Given the description of an element on the screen output the (x, y) to click on. 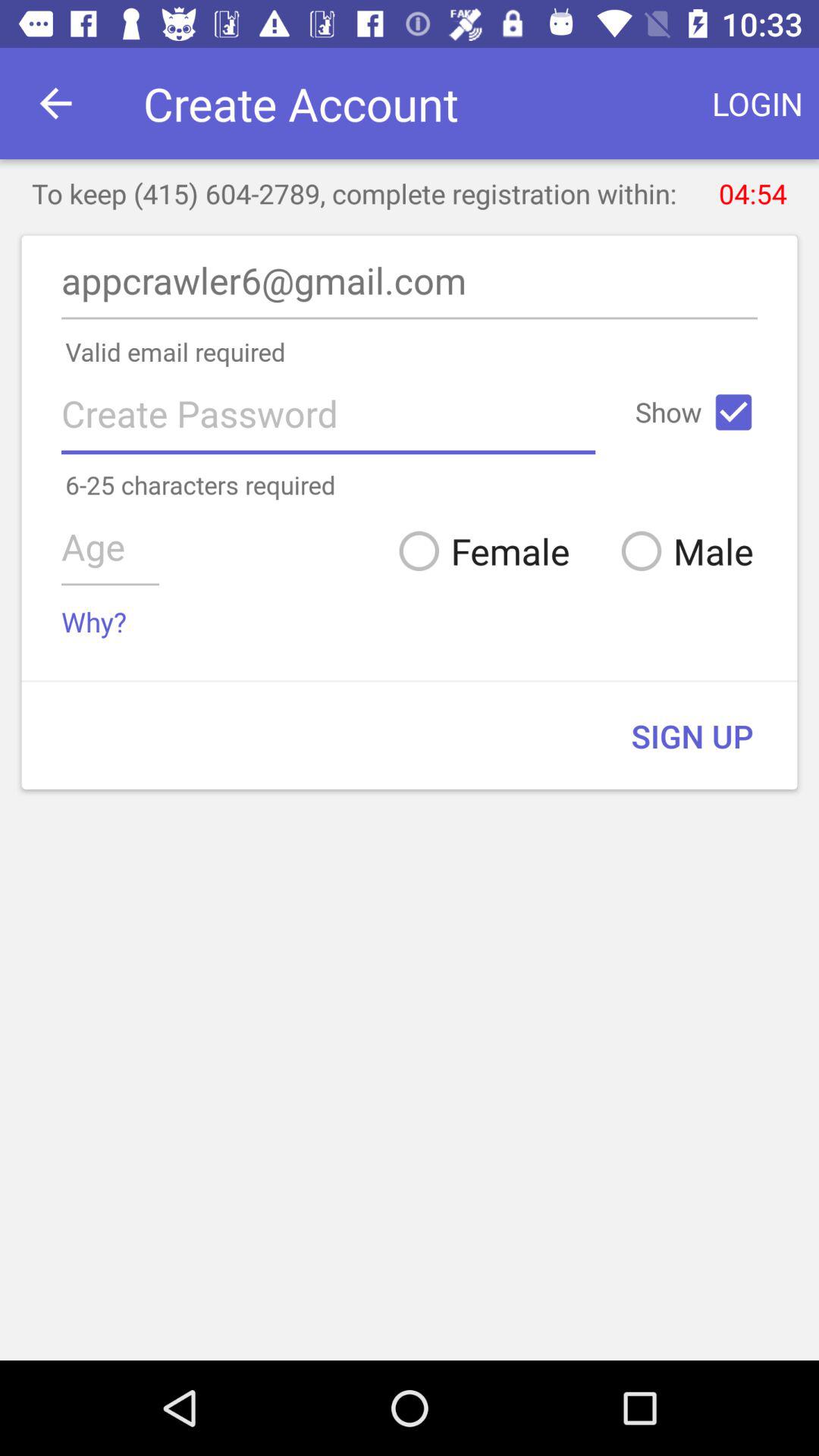
tap item to the right of the show icon (733, 412)
